Given the description of an element on the screen output the (x, y) to click on. 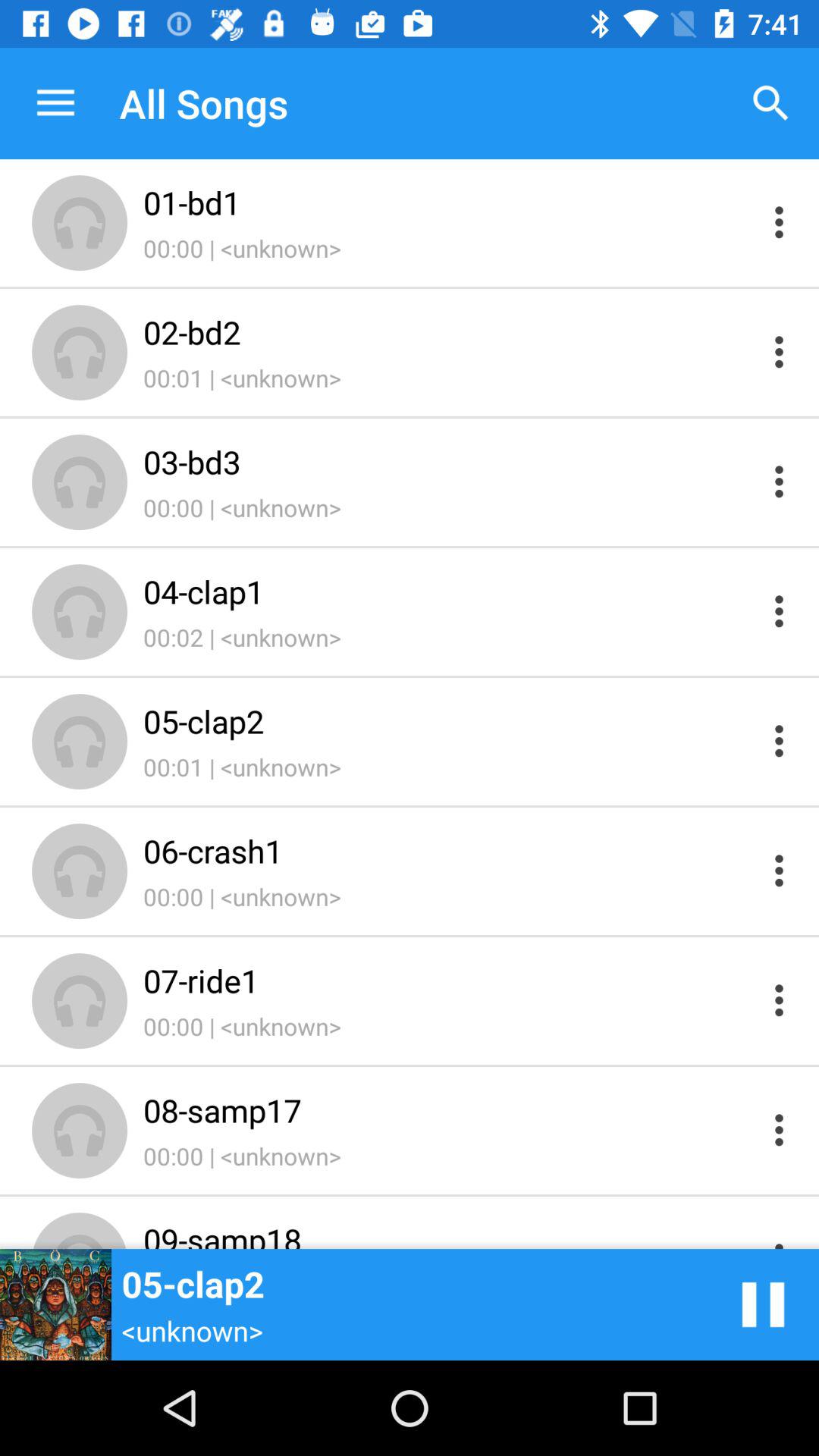
press icon to the right of all songs icon (771, 103)
